Given the description of an element on the screen output the (x, y) to click on. 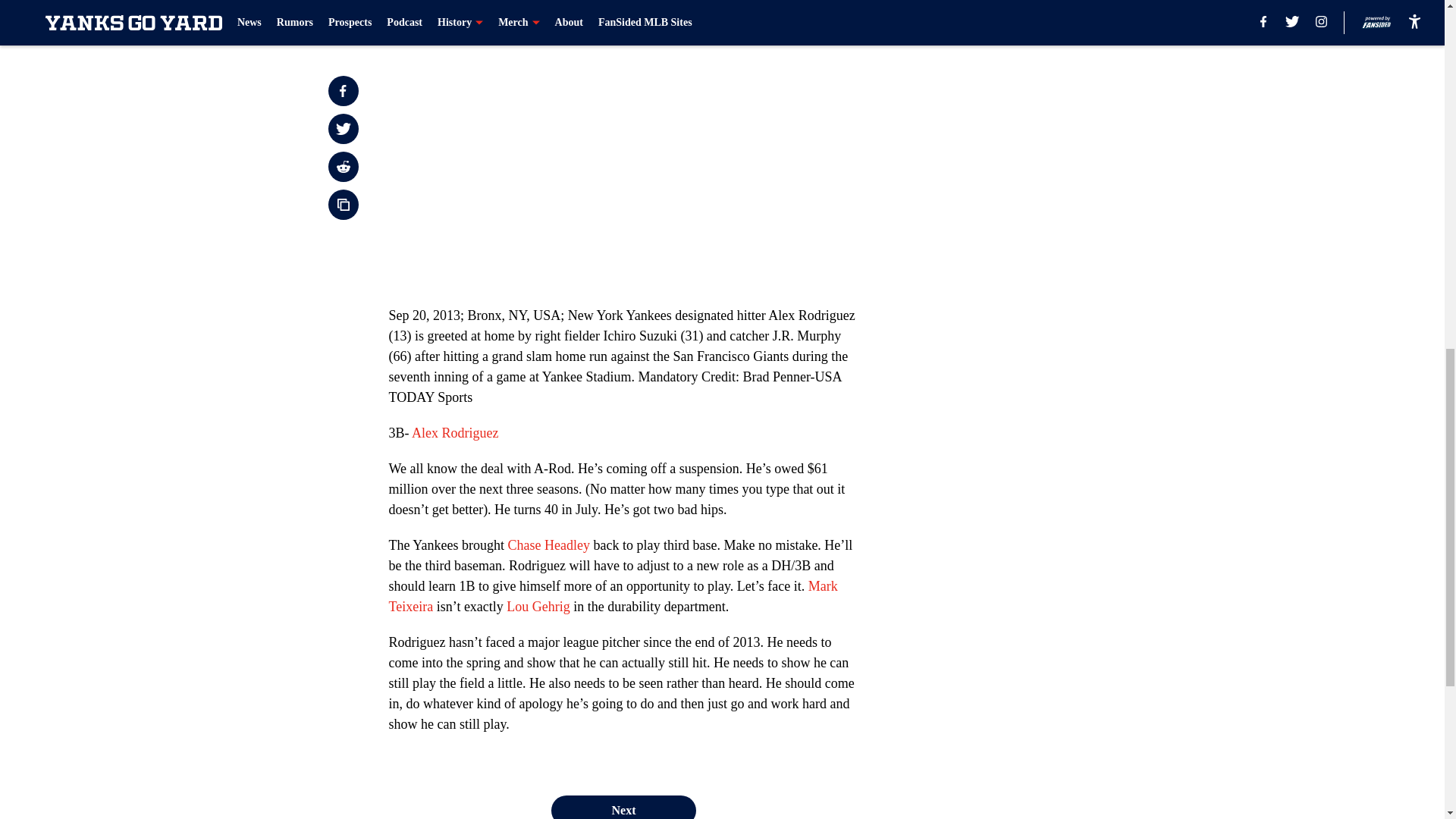
Prev (433, 5)
Alex Rodriguez (454, 432)
Lou Gehrig (537, 606)
Chase Headley (547, 544)
Mark Teixeira (612, 596)
Next (622, 807)
Next (813, 5)
